Given the description of an element on the screen output the (x, y) to click on. 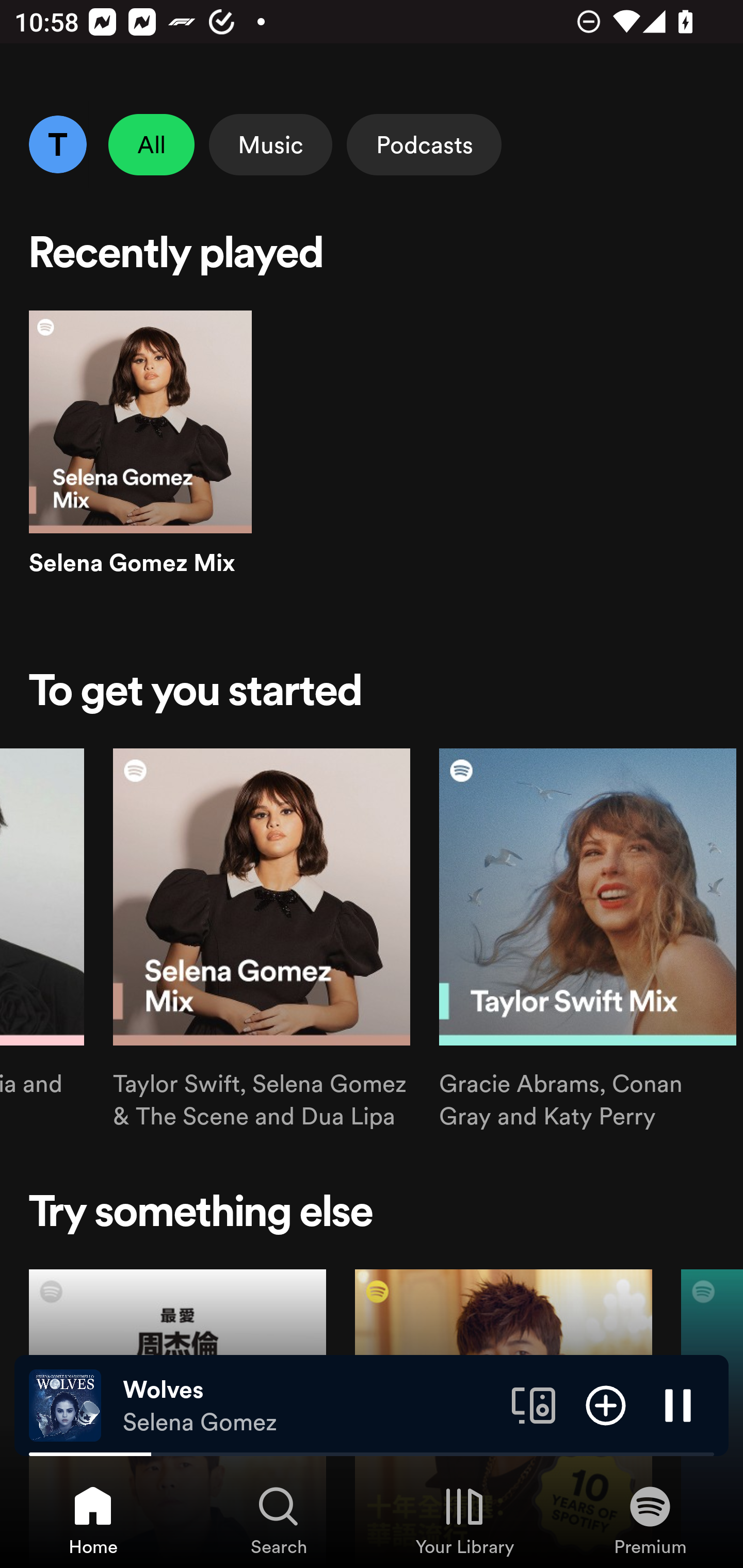
Profile (57, 144)
All Unselect All (151, 144)
Music Select Music (270, 144)
Podcasts Select Podcasts (423, 144)
Selena Gomez Mix (139, 460)
Wolves Selena Gomez (309, 1405)
The cover art of the currently playing track (64, 1404)
Connect to a device. Opens the devices menu (533, 1404)
Add item (605, 1404)
Pause (677, 1404)
Home, Tab 1 of 4 Home Home (92, 1519)
Search, Tab 2 of 4 Search Search (278, 1519)
Your Library, Tab 3 of 4 Your Library Your Library (464, 1519)
Premium, Tab 4 of 4 Premium Premium (650, 1519)
